Given the description of an element on the screen output the (x, y) to click on. 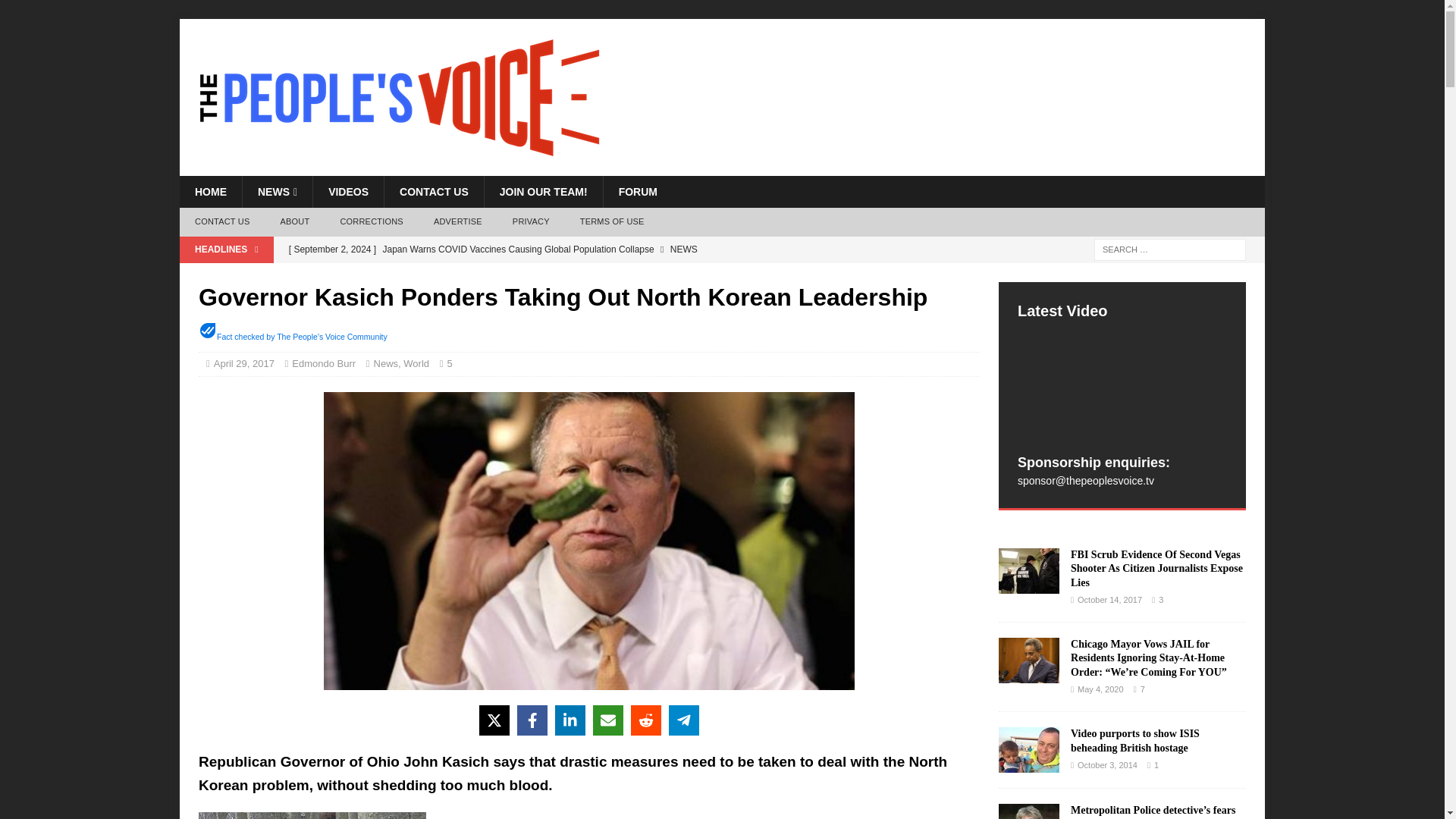
5 (453, 363)
ADVERTISE (458, 222)
Edmondo Burr (323, 363)
April 29, 2017 (244, 363)
World (416, 363)
ABOUT (294, 222)
FORUM (637, 192)
CONTACT US (433, 192)
HOME (210, 192)
CORRECTIONS (370, 222)
